Given the description of an element on the screen output the (x, y) to click on. 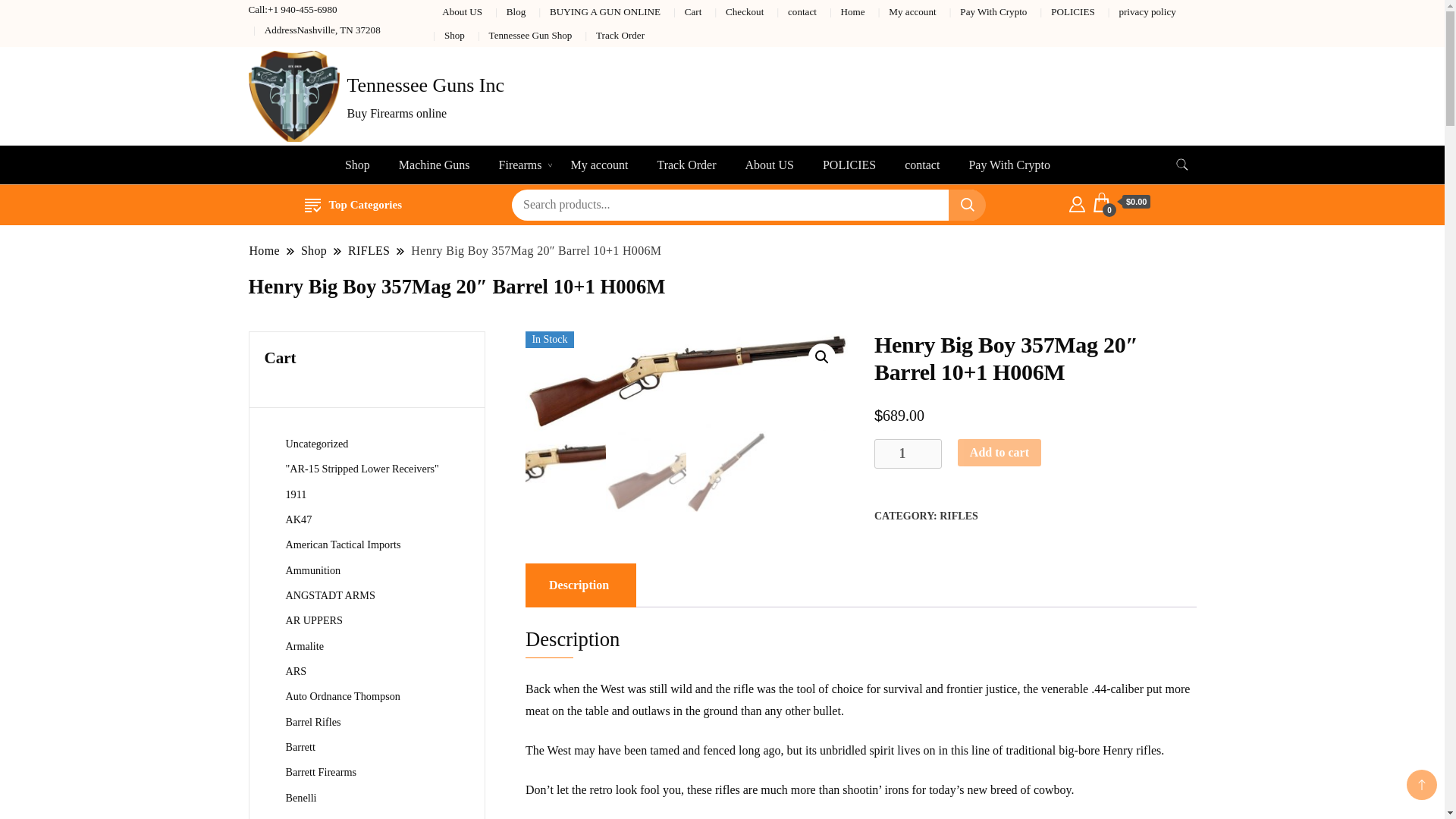
Machine Guns (434, 164)
Pay With Crypto (1008, 164)
My Account (1076, 201)
Tennessee Guns Inc (426, 85)
Track Order (686, 164)
About US (461, 11)
My account (598, 164)
Firearms (520, 164)
Shop (356, 164)
Home (852, 11)
